Given the description of an element on the screen output the (x, y) to click on. 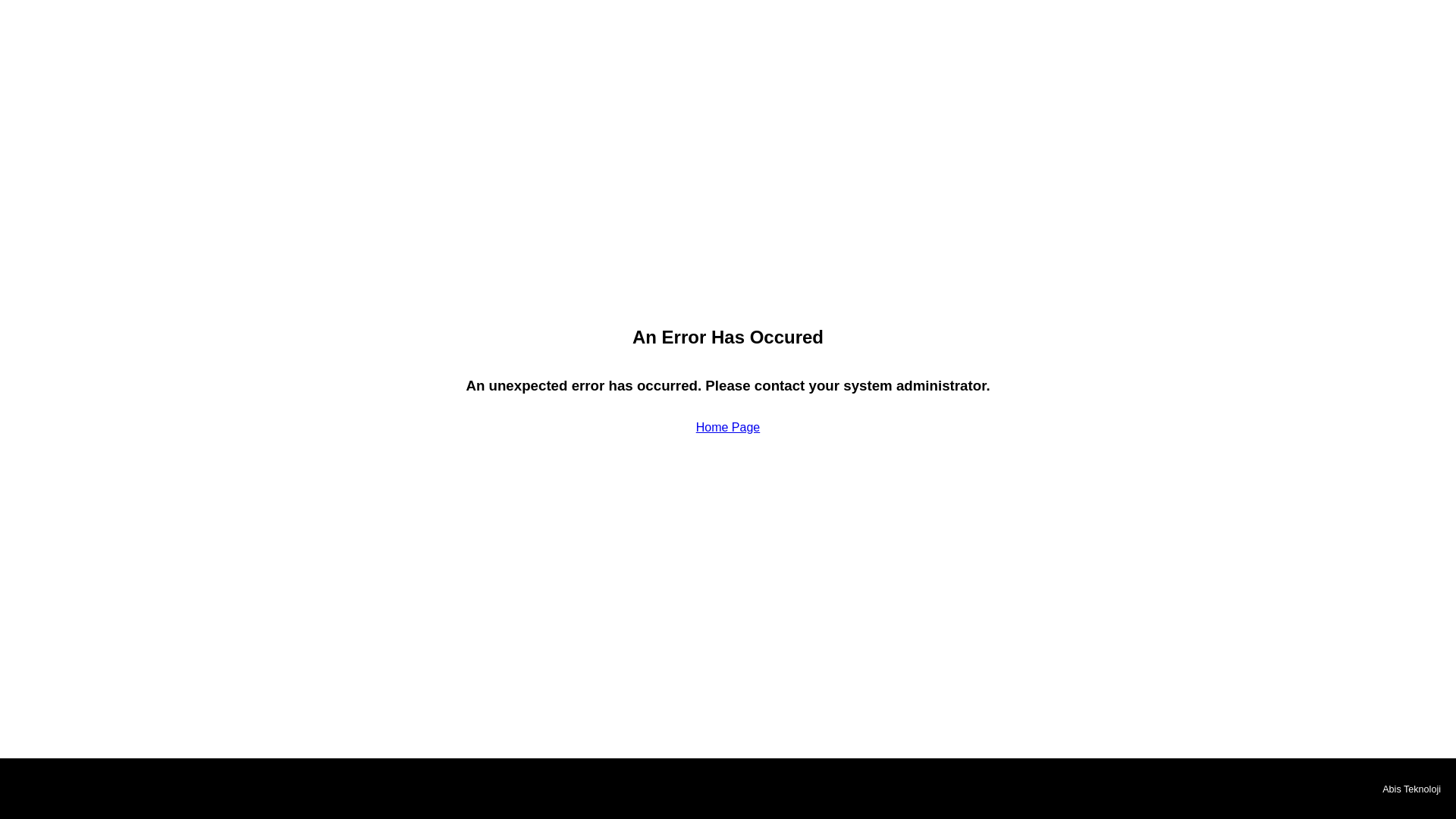
Home Page (727, 427)
Abis Teknoloji (1411, 788)
